Given the description of an element on the screen output the (x, y) to click on. 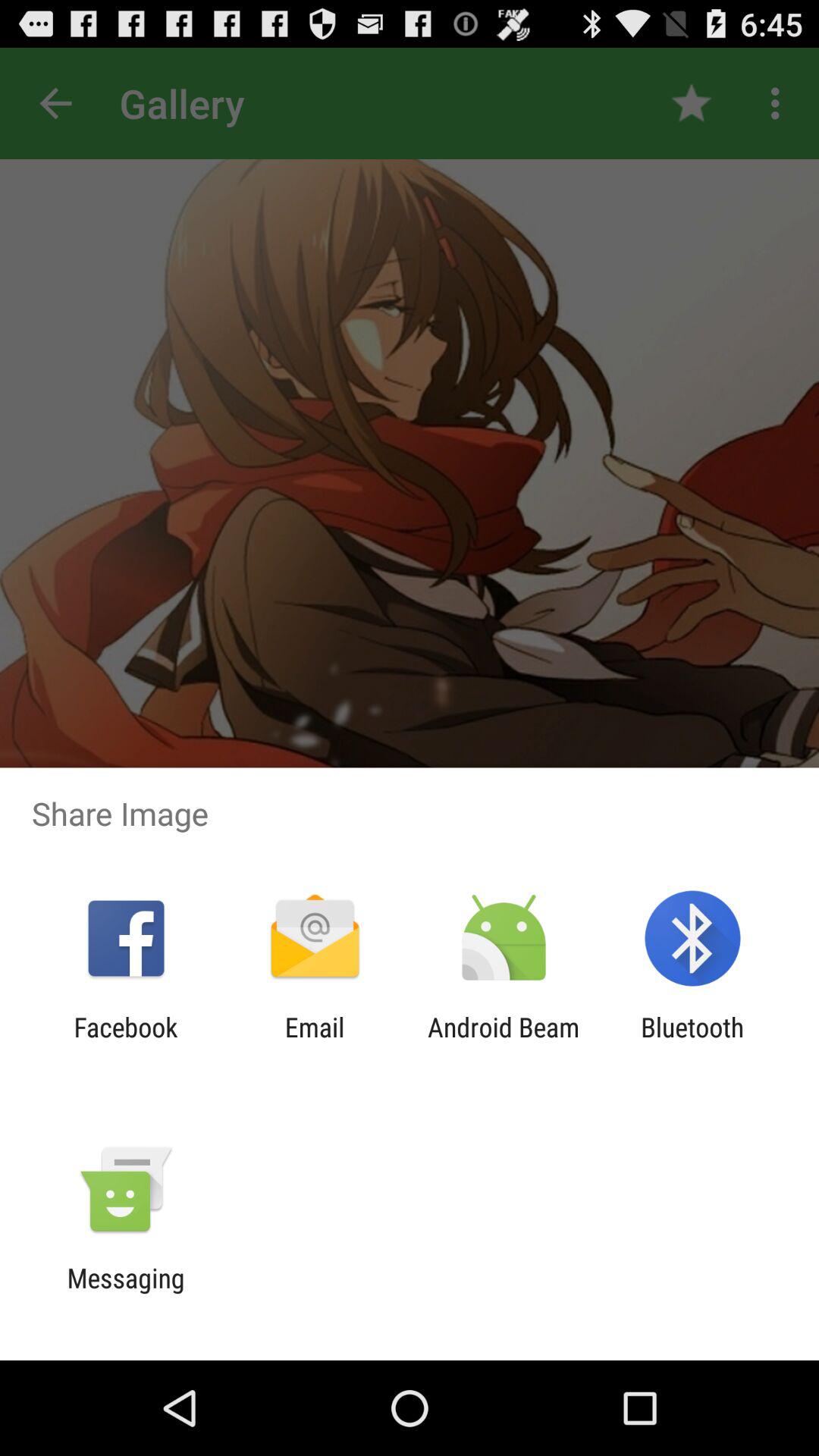
tap facebook icon (125, 1042)
